Given the description of an element on the screen output the (x, y) to click on. 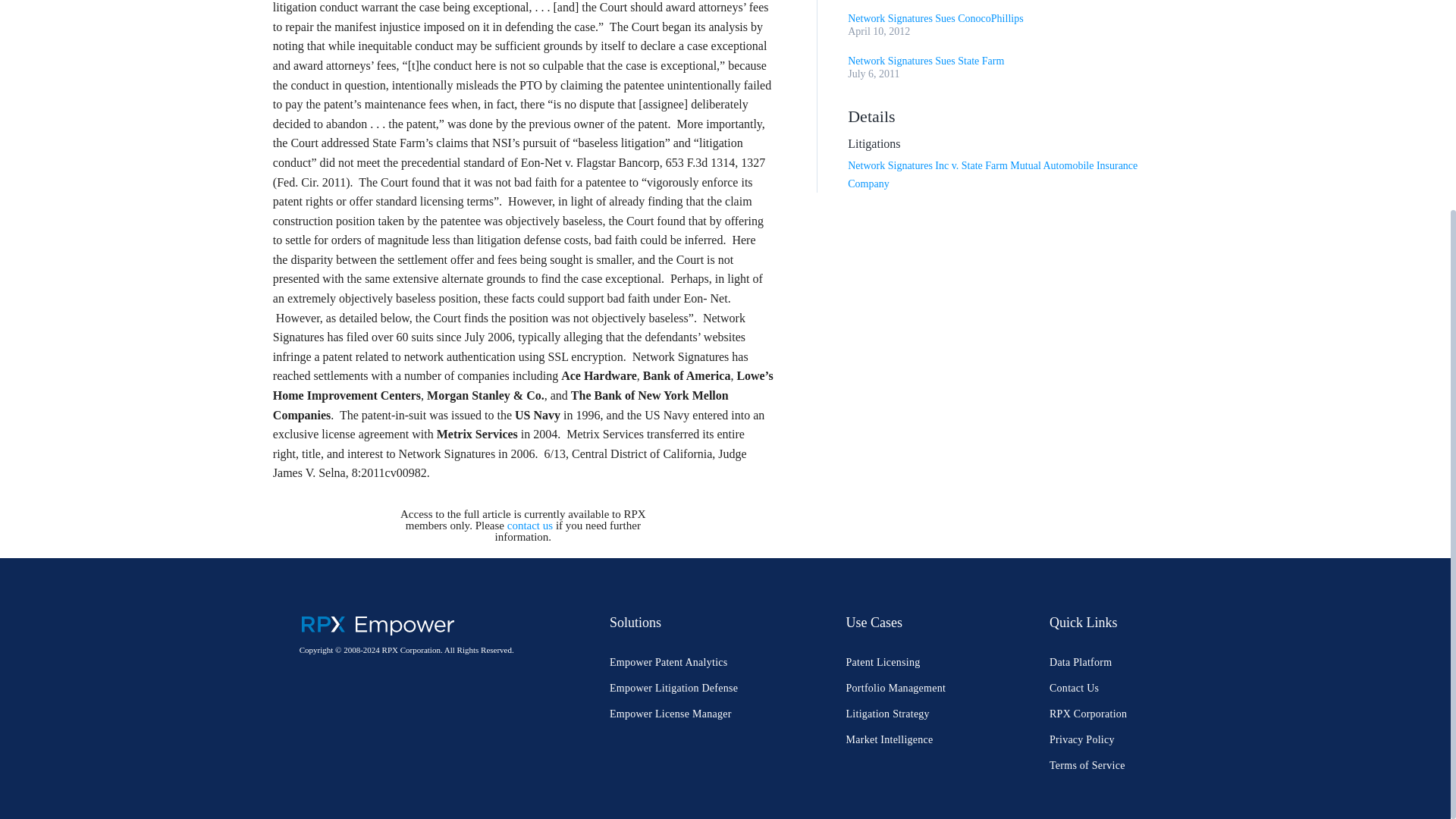
Portfolio Management (895, 687)
Network Signatures Sues State Farm (925, 60)
Patent Licensing (882, 662)
contact us (529, 525)
Empower License Manager (671, 713)
Empower Patent Analytics (669, 662)
Network Signatures Sues ConocoPhillips (935, 18)
Empower Litigation Defense (674, 687)
